Given the description of an element on the screen output the (x, y) to click on. 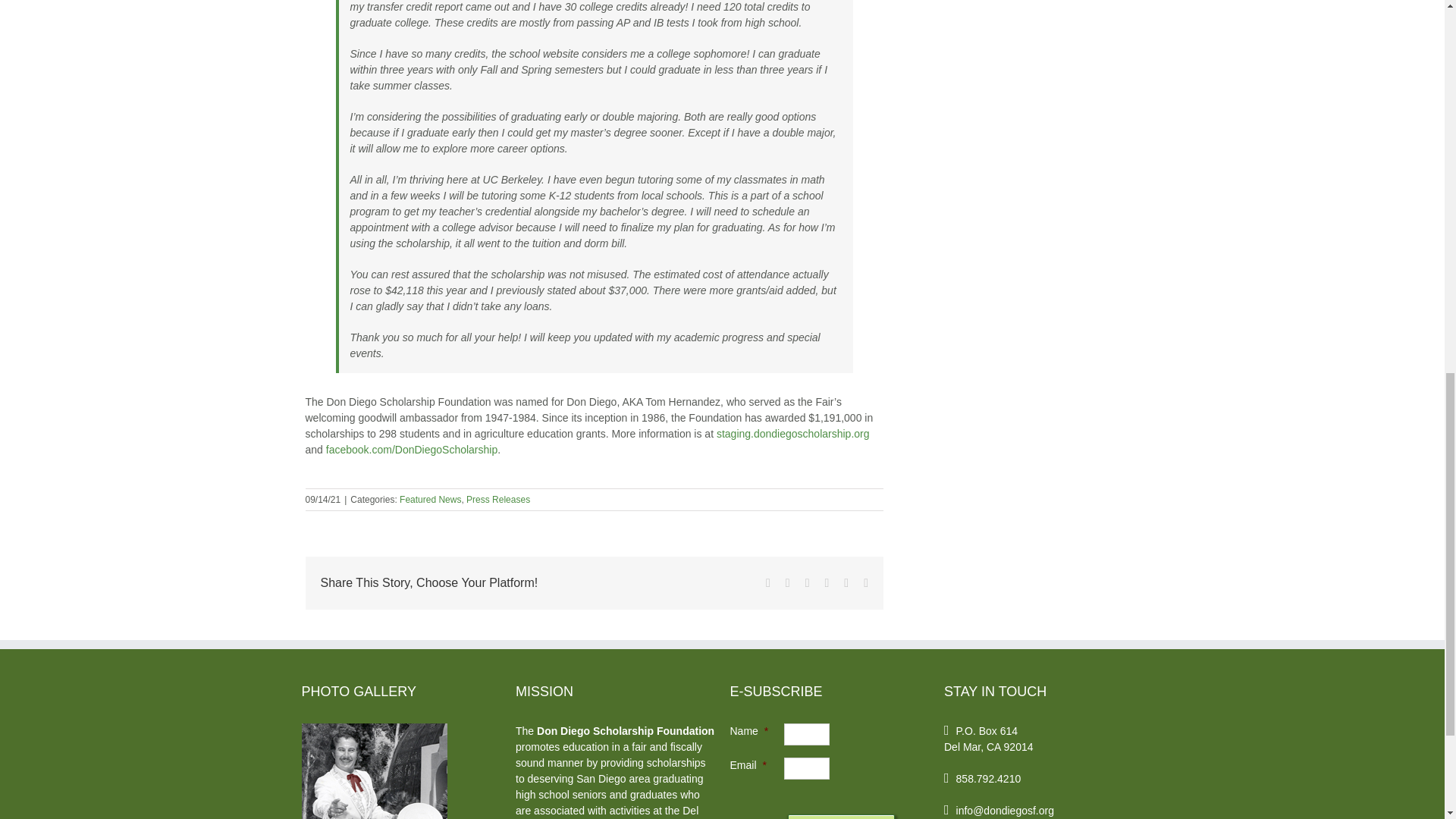
Subscribe (841, 816)
